Given the description of an element on the screen output the (x, y) to click on. 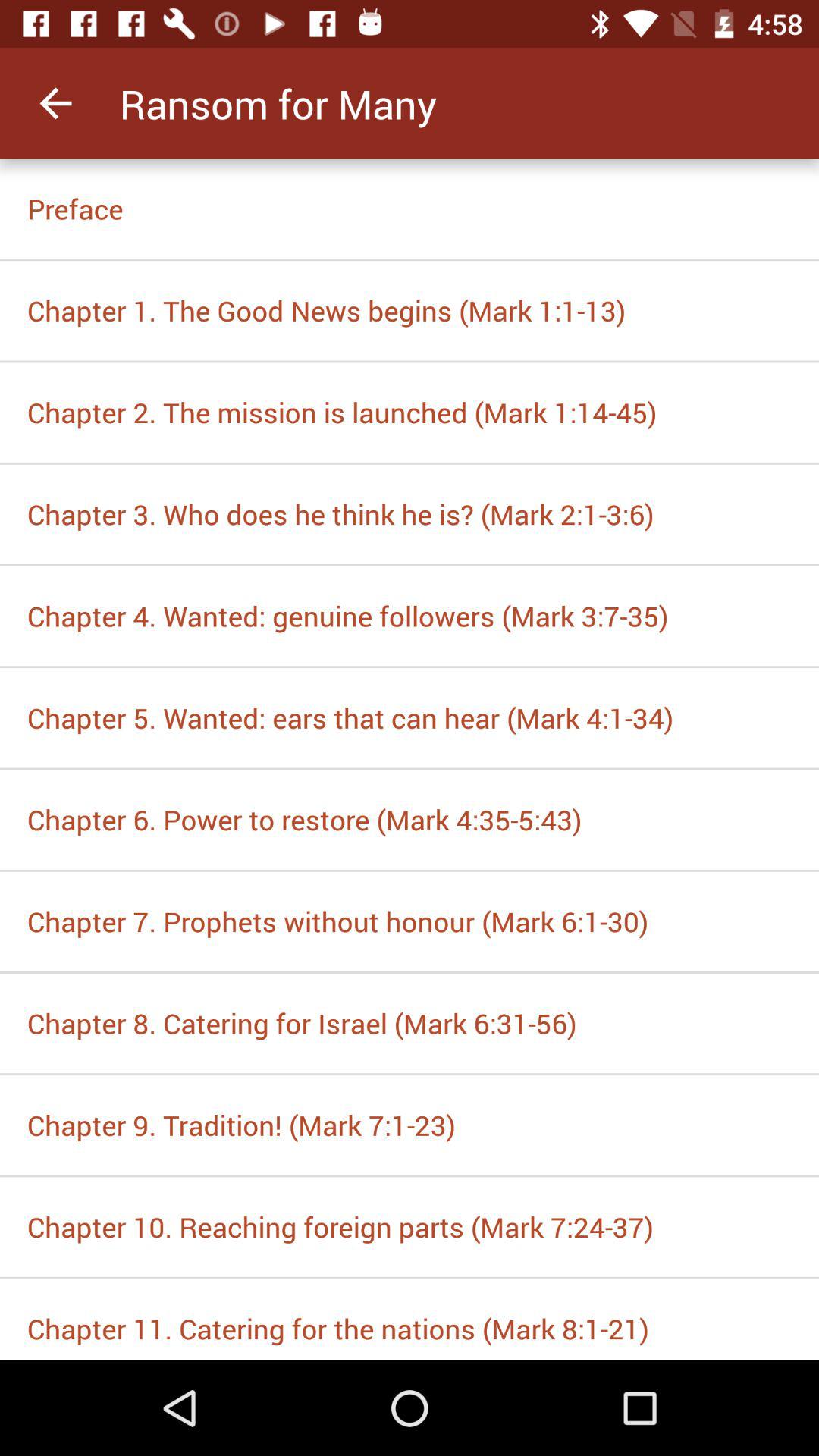
click the item at the top left corner (55, 103)
